Given the description of an element on the screen output the (x, y) to click on. 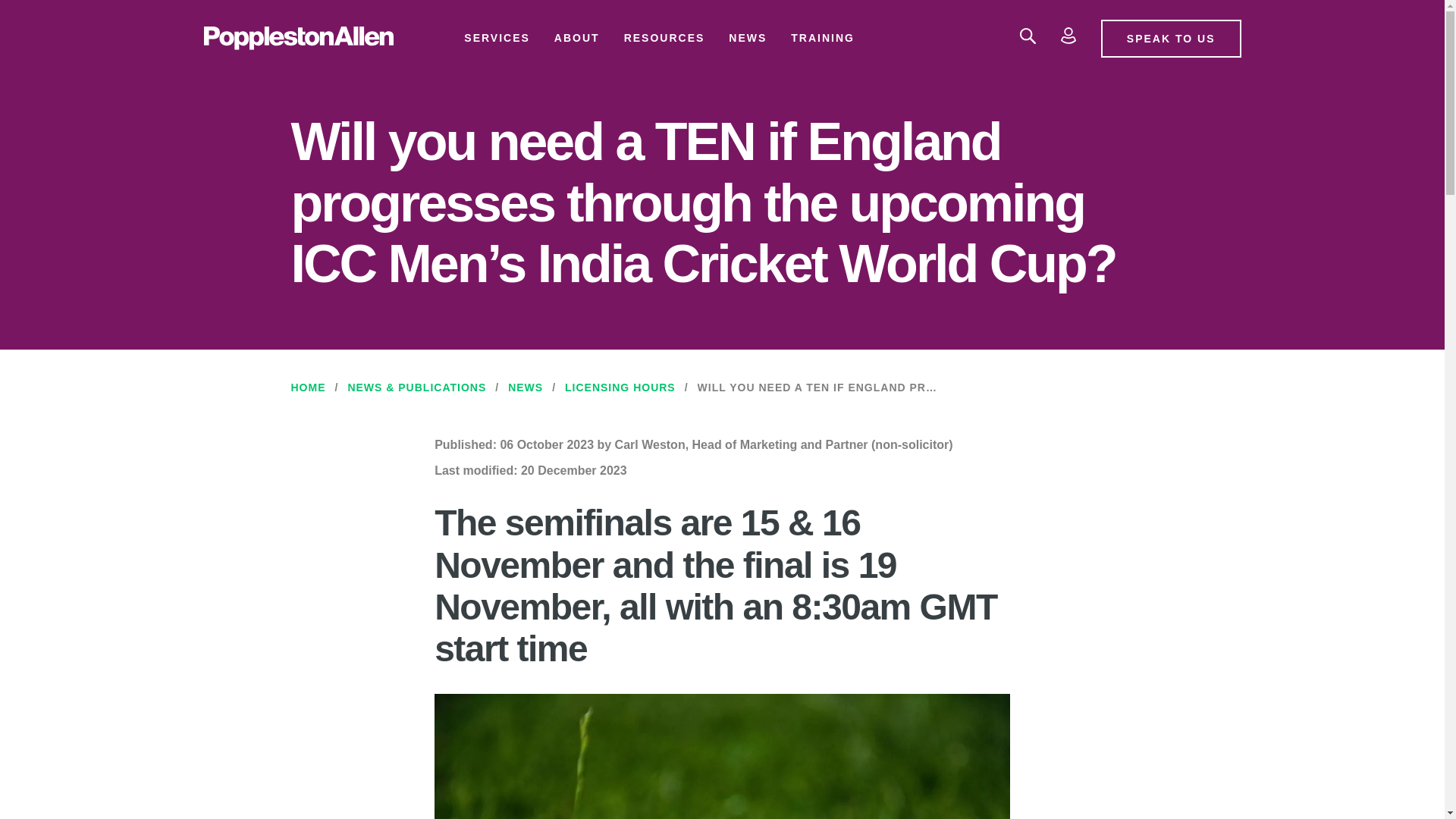
Go to the Licensing hours category archives. (619, 387)
SERVICES (496, 38)
Go to the News category archives. (525, 387)
ABOUT (576, 38)
Go to Poppleston Allen. (308, 387)
